Given the description of an element on the screen output the (x, y) to click on. 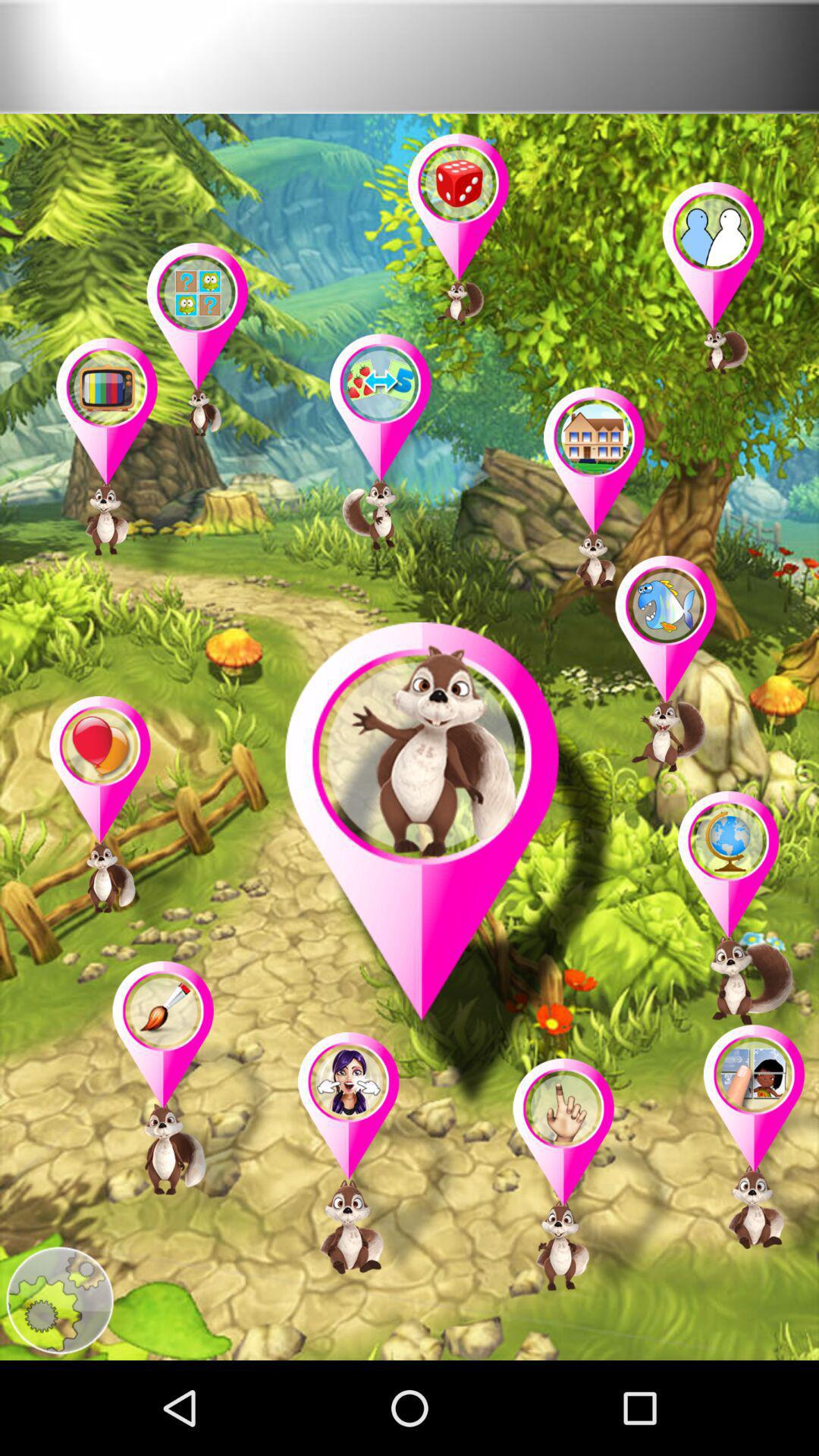
ask james about home (625, 512)
